Given the description of an element on the screen output the (x, y) to click on. 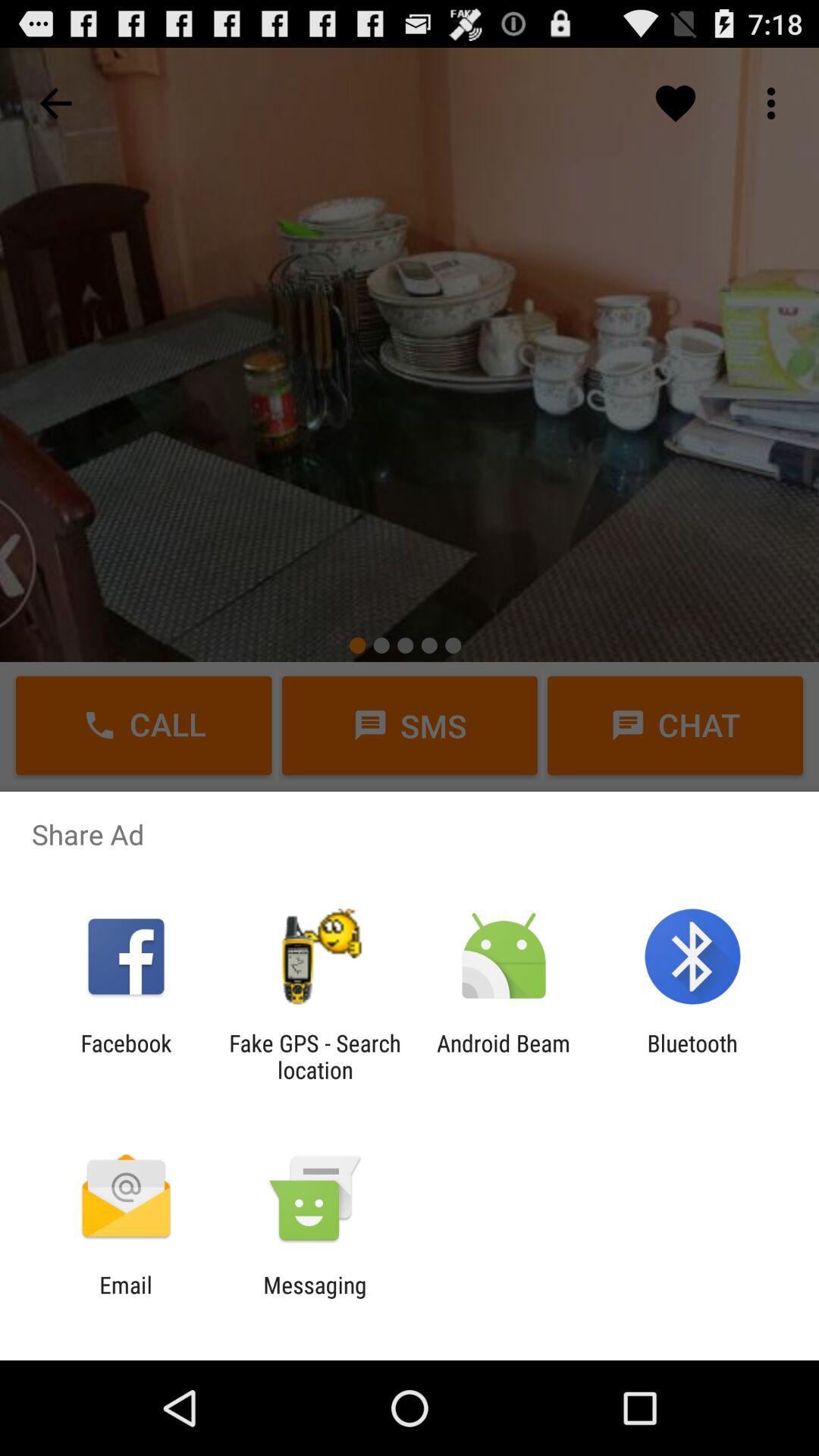
turn on the icon next to the email icon (314, 1298)
